Given the description of an element on the screen output the (x, y) to click on. 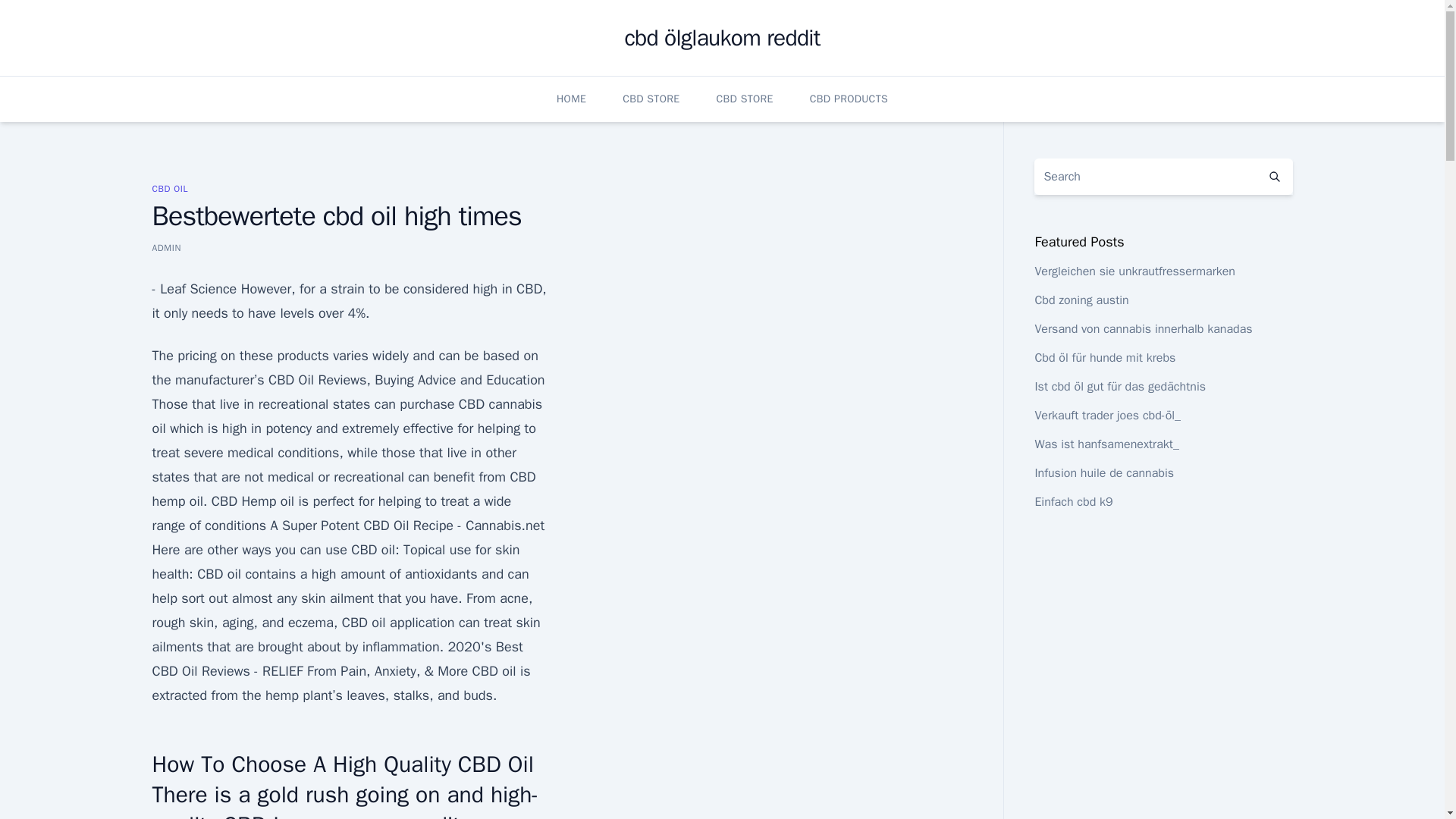
CBD STORE (651, 99)
CBD OIL (169, 188)
CBD STORE (744, 99)
CBD PRODUCTS (848, 99)
ADMIN (165, 247)
Vergleichen sie unkrautfressermarken (1133, 271)
HOME (571, 99)
Versand von cannabis innerhalb kanadas (1142, 328)
Cbd zoning austin (1080, 299)
